Given the description of an element on the screen output the (x, y) to click on. 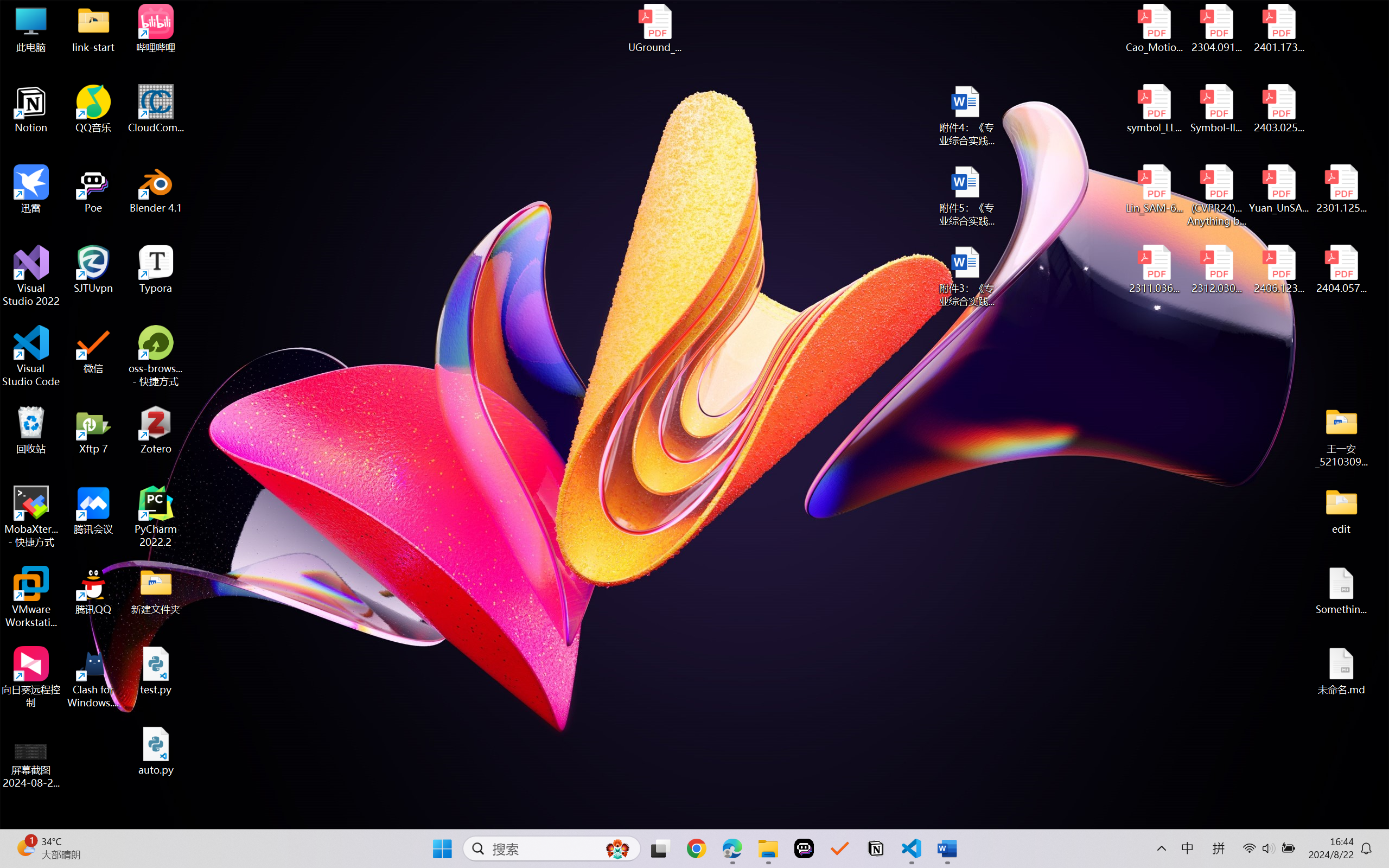
symbol_LLM.pdf (1154, 109)
PyCharm 2022.2 (156, 516)
CloudCompare (156, 109)
edit (1340, 510)
Visual Studio Code (31, 355)
2301.12597v3.pdf (1340, 189)
2304.09121v3.pdf (1216, 28)
